Given the description of an element on the screen output the (x, y) to click on. 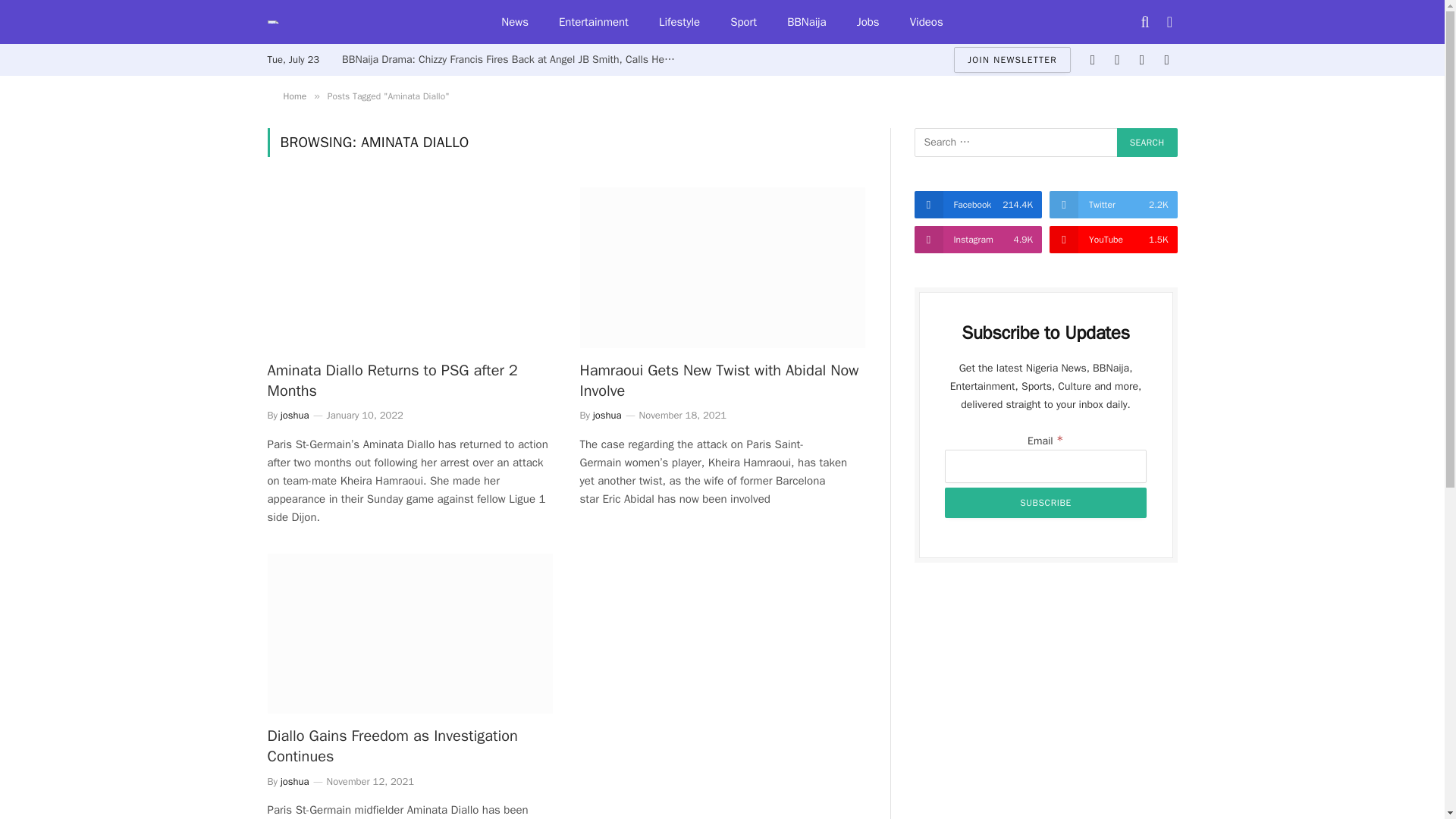
Diallo Gains Freedom as Investigation Continues (408, 633)
news (514, 22)
JOIN NEWSLETTER (1011, 59)
Switch to Dark Design - easier on eyes. (1167, 21)
Entertainment (593, 22)
BBNaija (806, 22)
Sport (742, 22)
News (514, 22)
Search (1146, 142)
Videos (926, 22)
Lifestyle (678, 22)
Search (1146, 142)
Aminata Diallo Returns to PSG after 2 Months (408, 267)
Jobs (868, 22)
lifestyle (678, 22)
